Given the description of an element on the screen output the (x, y) to click on. 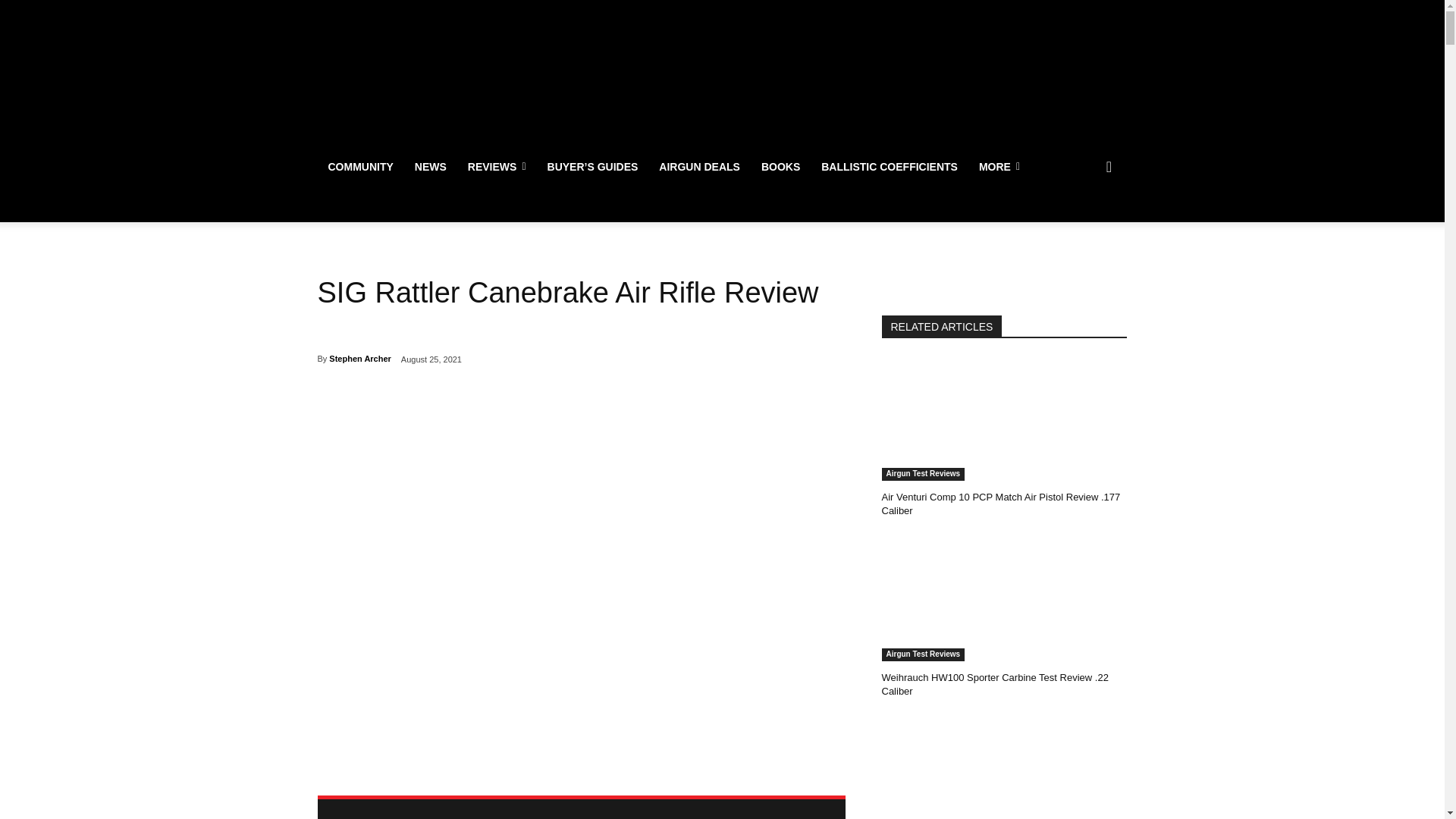
Air Venturi Comp 10 PCP Match Air Pistol Review .177 Caliber (1003, 418)
NEWS (430, 166)
Weihrauch HW100 Sporter Carbine Test Review .22 Caliber (1003, 599)
Air Venturi Comp 10 PCP Match Air Pistol Review .177 Caliber (999, 503)
Weihrauch HW100 Sporter Carbine Test Review .22 Caliber (994, 683)
COMMUNITY (360, 166)
